Given the description of an element on the screen output the (x, y) to click on. 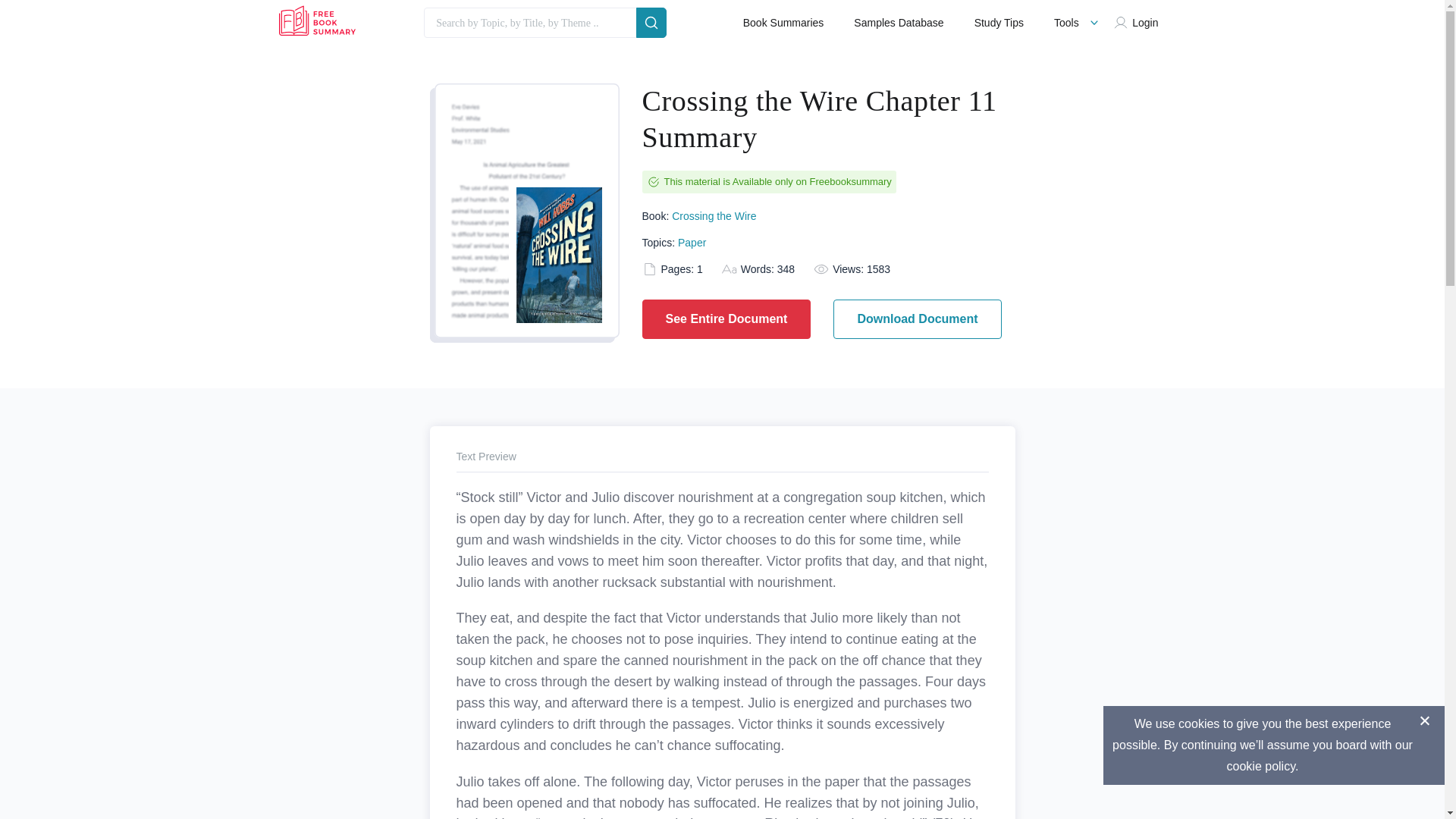
Study Tips (998, 22)
Login (1139, 22)
Samples Database (897, 22)
Crossing the Wire (713, 215)
Book Summaries (783, 22)
Paper (692, 242)
